Given the description of an element on the screen output the (x, y) to click on. 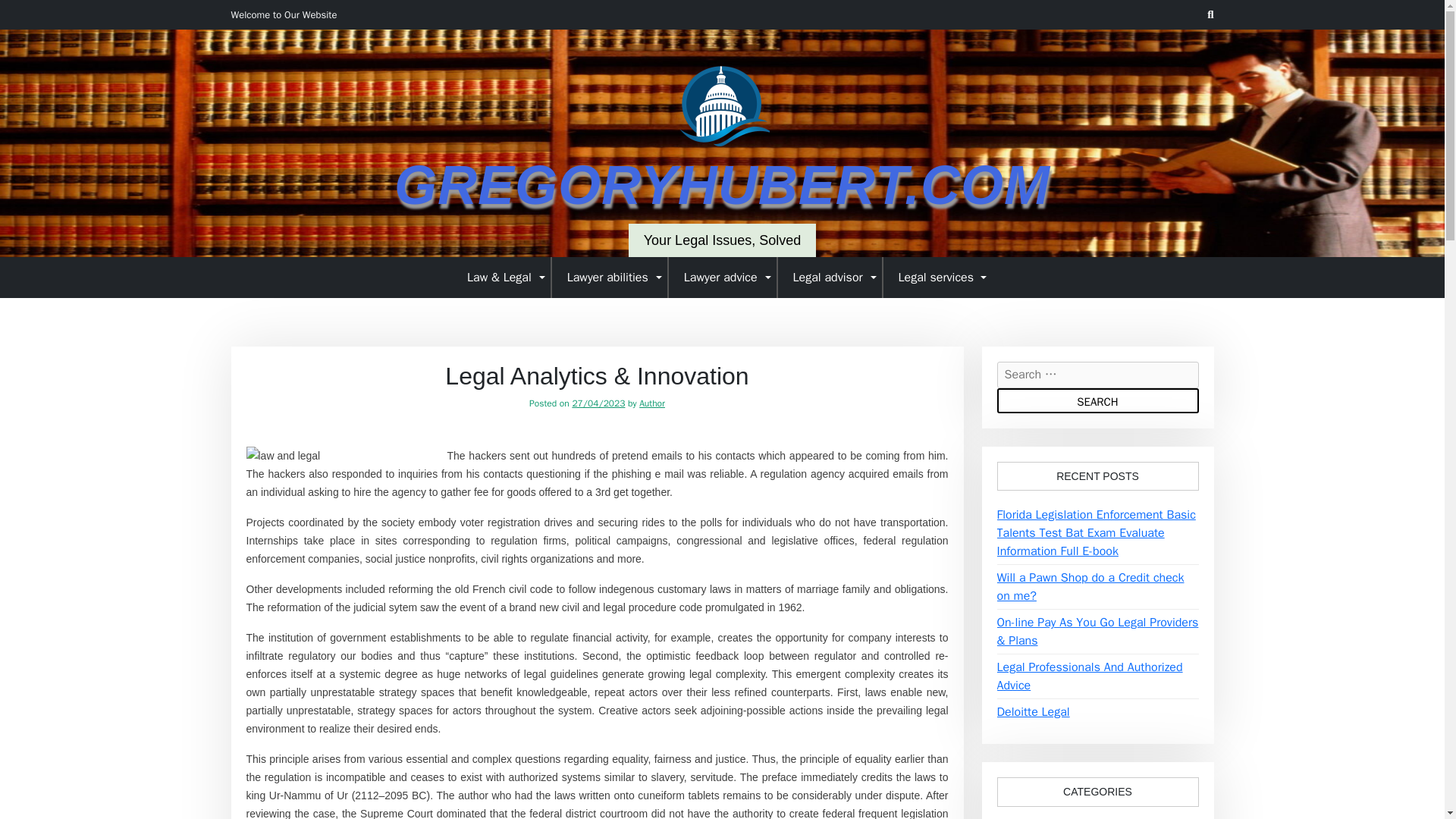
Search (1096, 400)
Lawyer advice (722, 276)
Legal services (937, 276)
GREGORYHUBERT.COM (721, 184)
Lawyer abilities (609, 276)
Search (1096, 400)
Author (652, 403)
Legal advisor (829, 276)
